Given the description of an element on the screen output the (x, y) to click on. 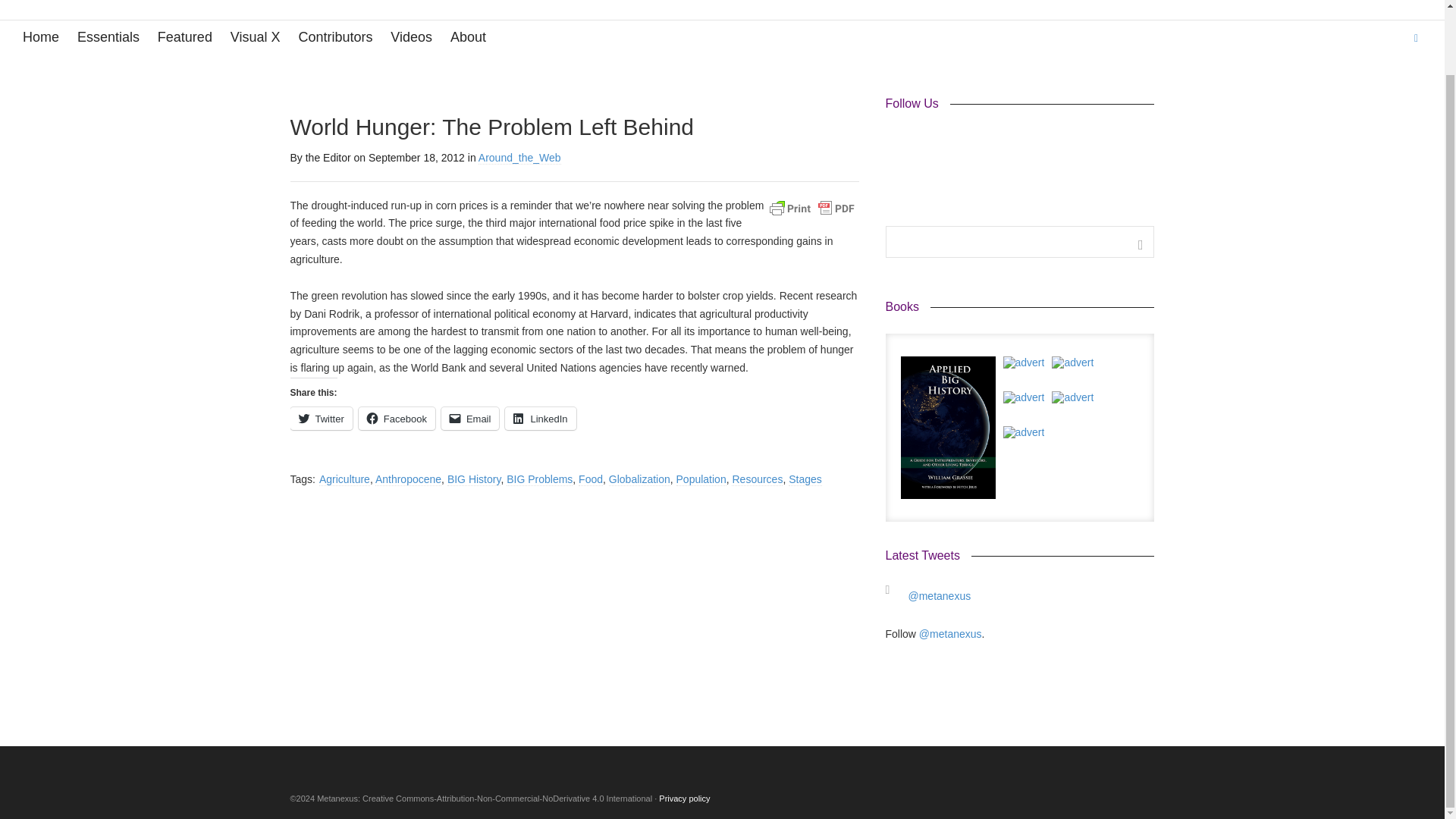
Videos (411, 38)
Featured (184, 38)
Privacy policy and GDPR compliance (684, 798)
Contributors (335, 38)
Food (590, 479)
Twitter (320, 418)
Click to share on Facebook (396, 418)
Click to share on LinkedIn (540, 418)
Email (470, 418)
Click to share on Twitter (320, 418)
Anthropocene (408, 479)
Population (701, 479)
LinkedIn (540, 418)
BIG History (473, 479)
Facebook (396, 418)
